Given the description of an element on the screen output the (x, y) to click on. 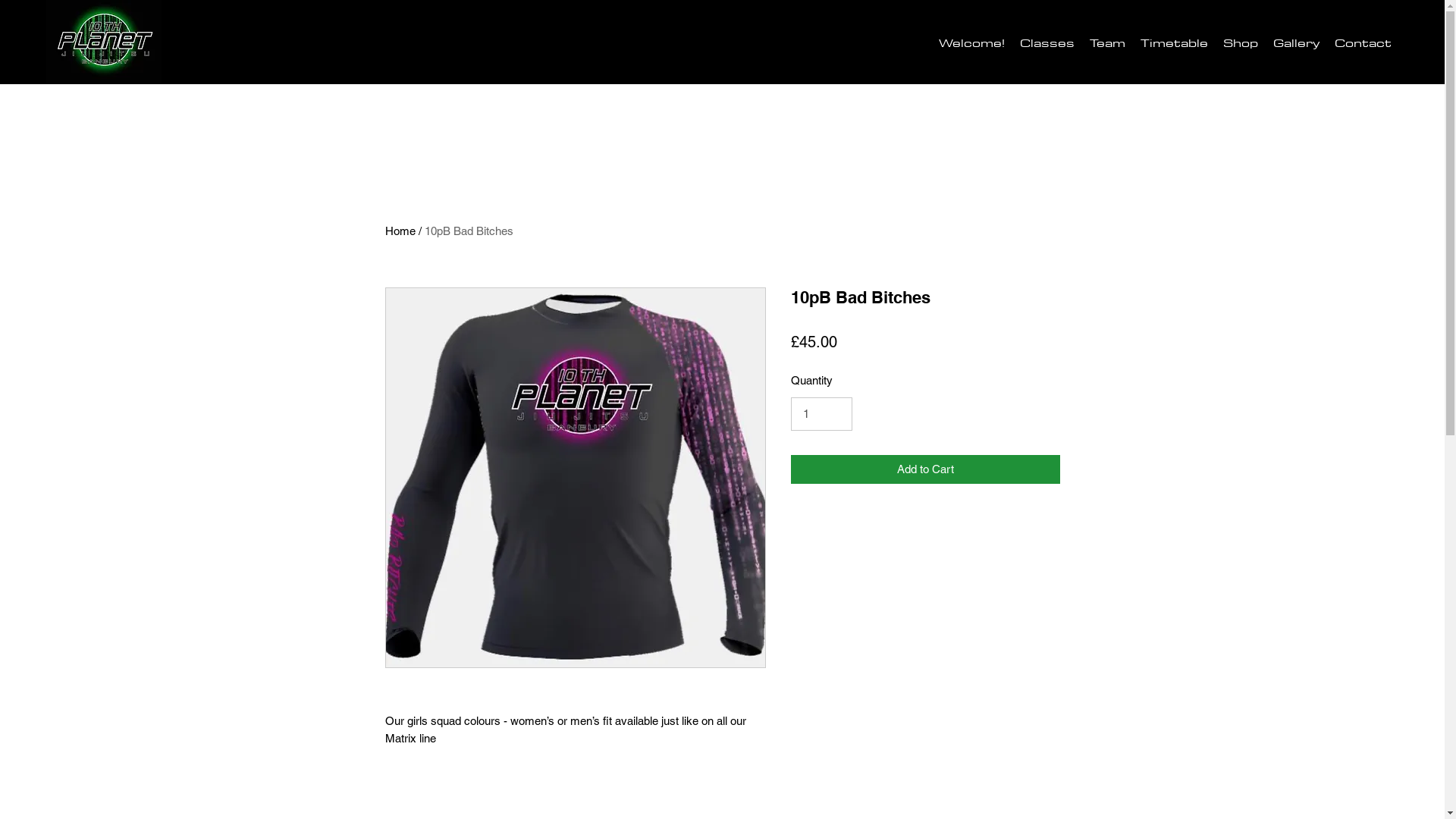
Shop Element type: text (1240, 41)
Contact Element type: text (1363, 41)
Timetable Element type: text (1173, 41)
Team Element type: text (1107, 41)
Add to Cart Element type: text (924, 469)
Welcome! Element type: text (971, 41)
Gallery Element type: text (1296, 41)
Home Element type: text (400, 230)
10pB Bad Bitches Element type: text (468, 230)
